Given the description of an element on the screen output the (x, y) to click on. 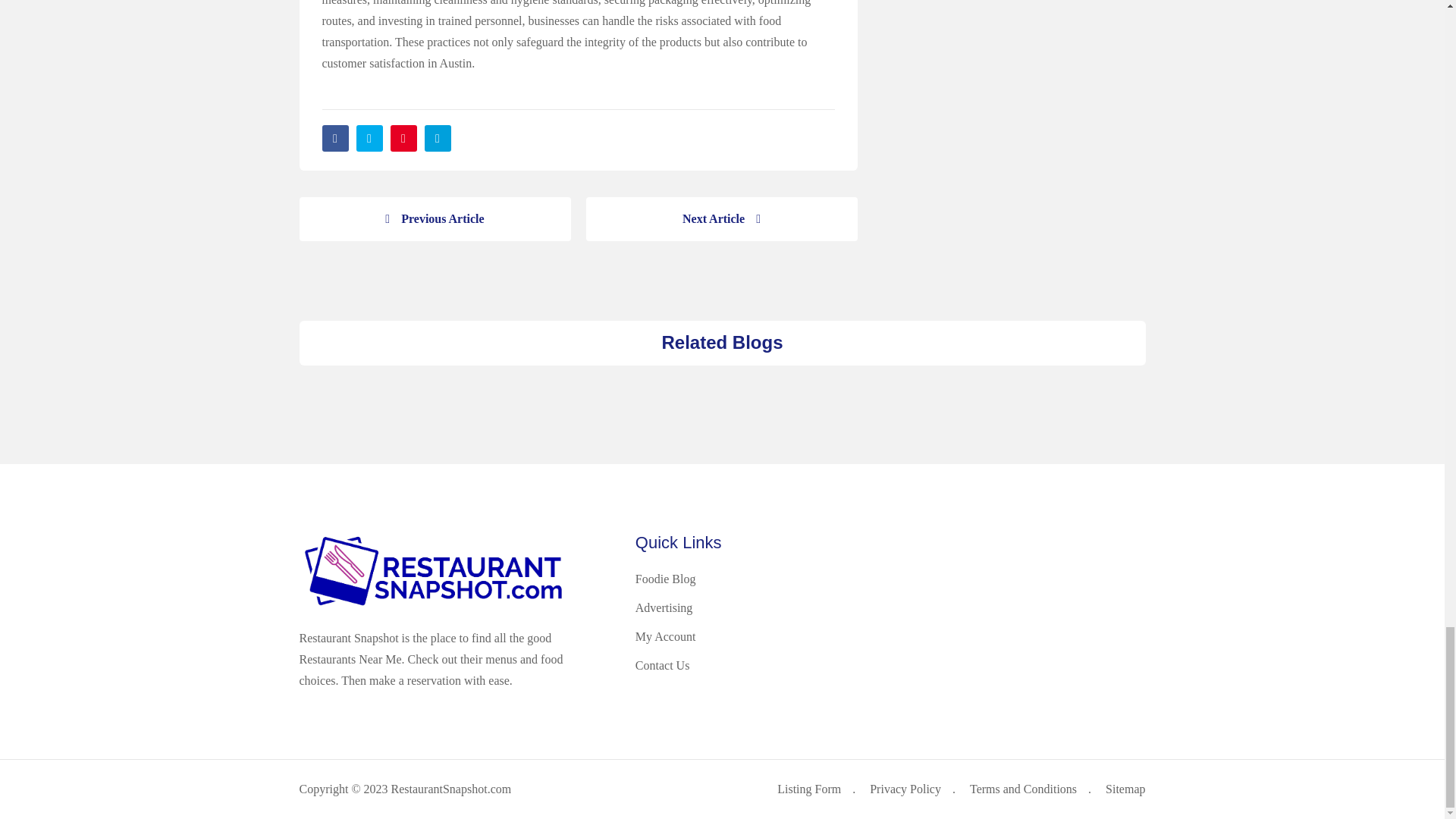
Next Article (721, 218)
Previous Article (434, 218)
